Given the description of an element on the screen output the (x, y) to click on. 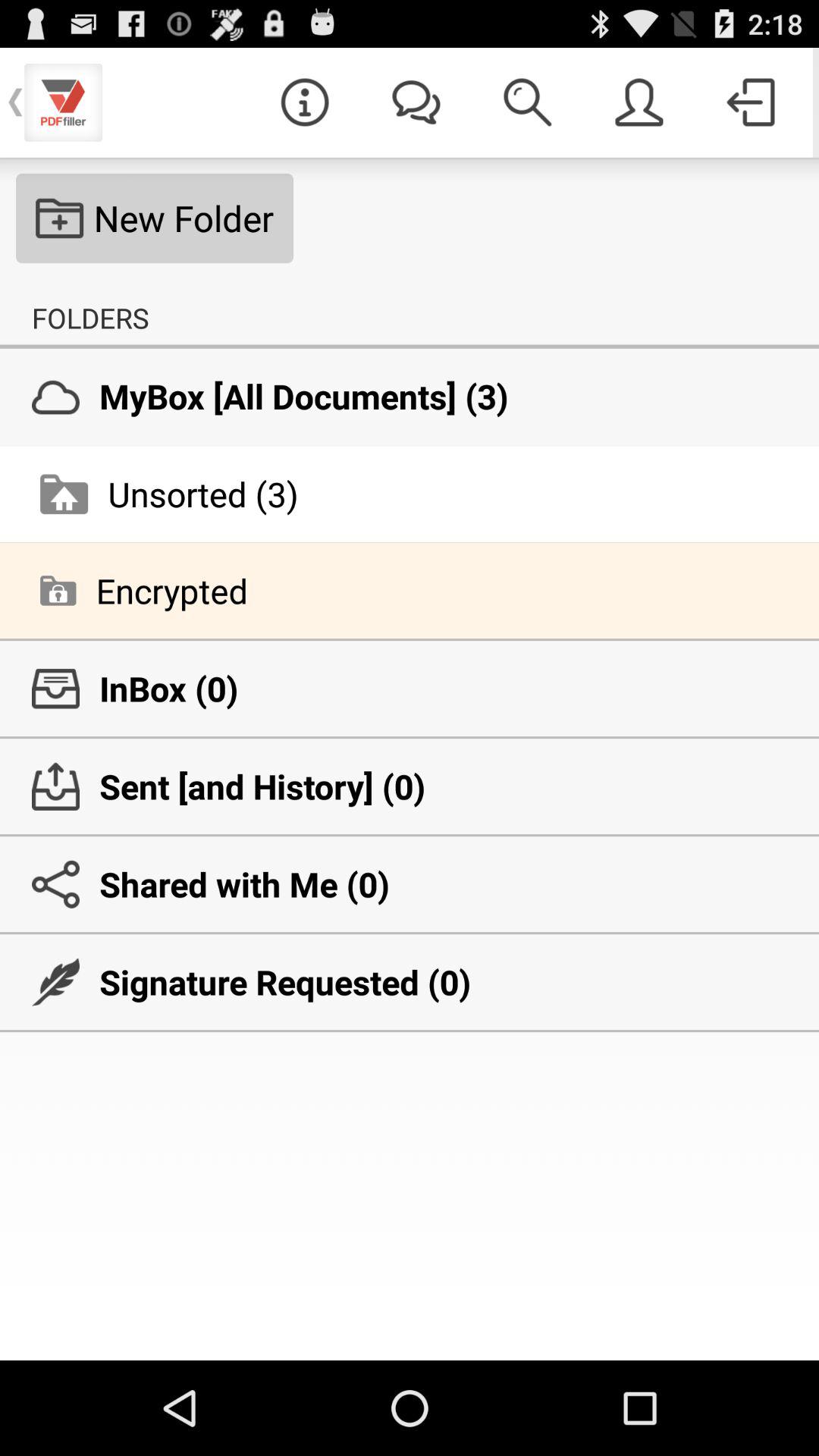
turn off the sent and history (409, 786)
